Given the description of an element on the screen output the (x, y) to click on. 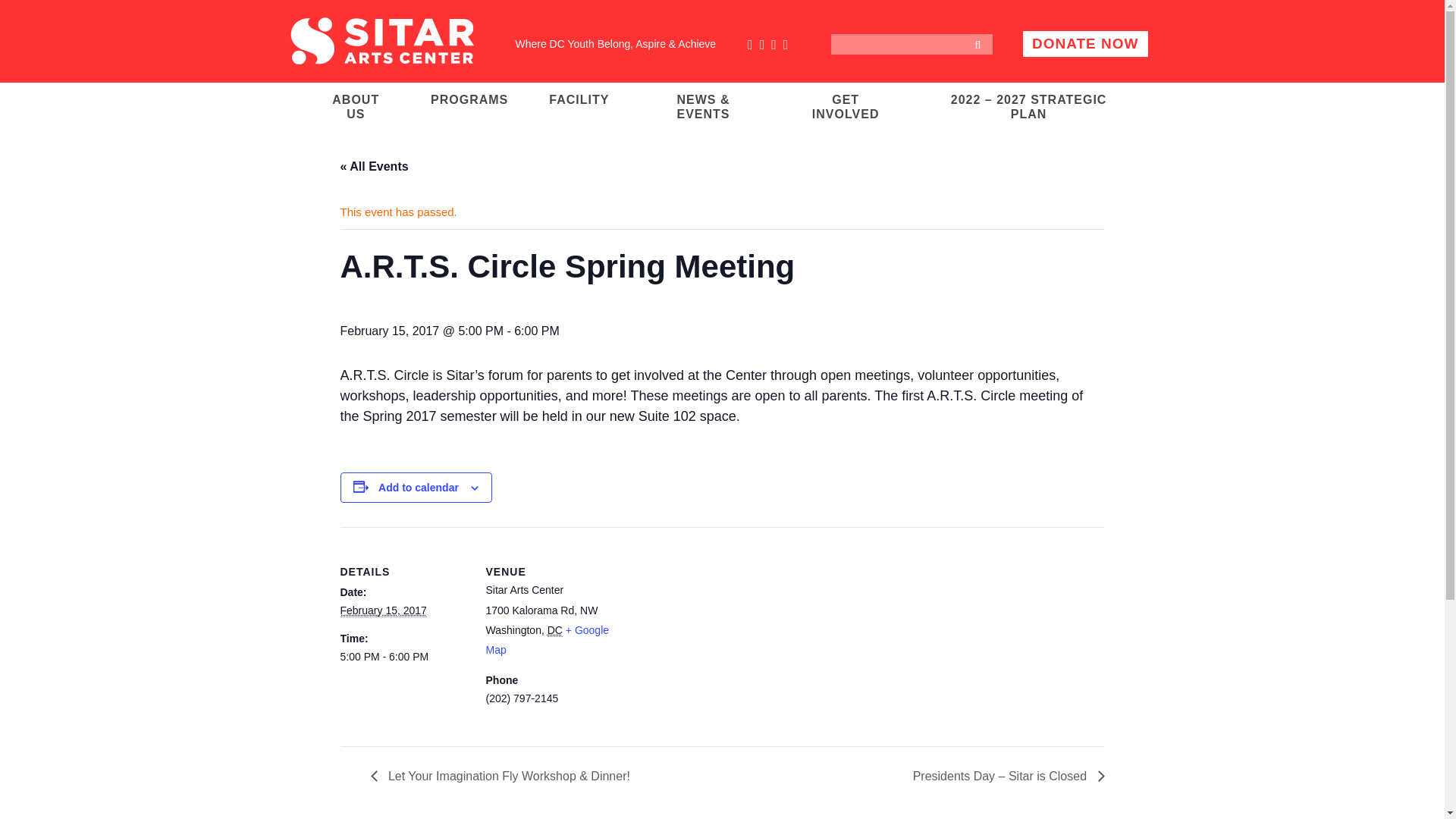
Click to view a Google Map (546, 640)
District of Columbia (554, 630)
ABOUT US (355, 105)
search (979, 47)
DONATE NOW (1085, 43)
2017-02-15 (382, 610)
search (979, 47)
FACILITY (578, 98)
2017-02-15 (403, 657)
PROGRAMS (469, 98)
